Given the description of an element on the screen output the (x, y) to click on. 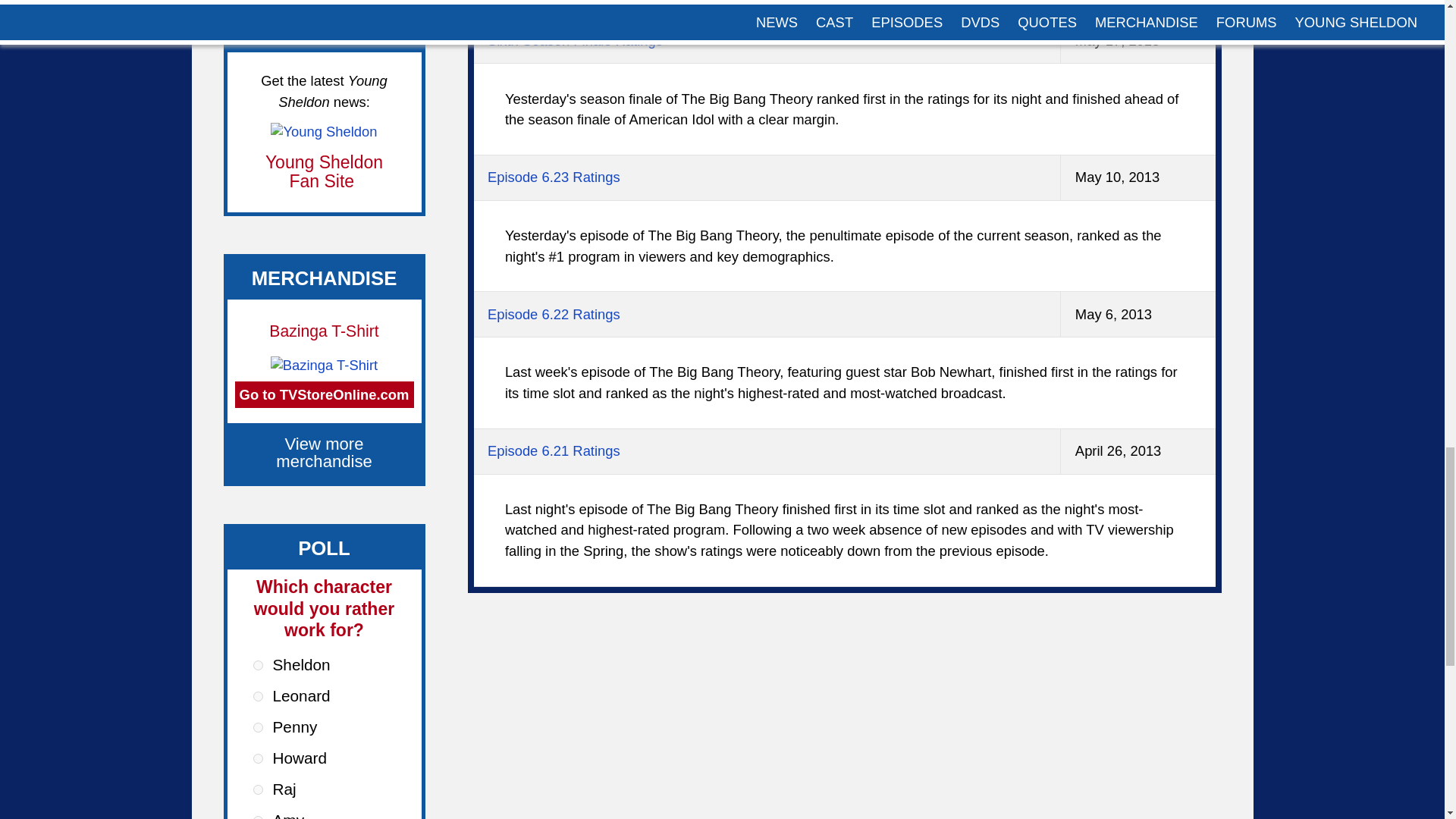
6 (258, 817)
Bazinga T-Shirt (323, 330)
2 (258, 696)
1 (258, 665)
4 (258, 758)
5 (258, 789)
View more merchandise (324, 452)
3 (258, 727)
Young Sheldon Fan Site  (323, 171)
Go to TVStoreOnline.com (323, 394)
